Given the description of an element on the screen output the (x, y) to click on. 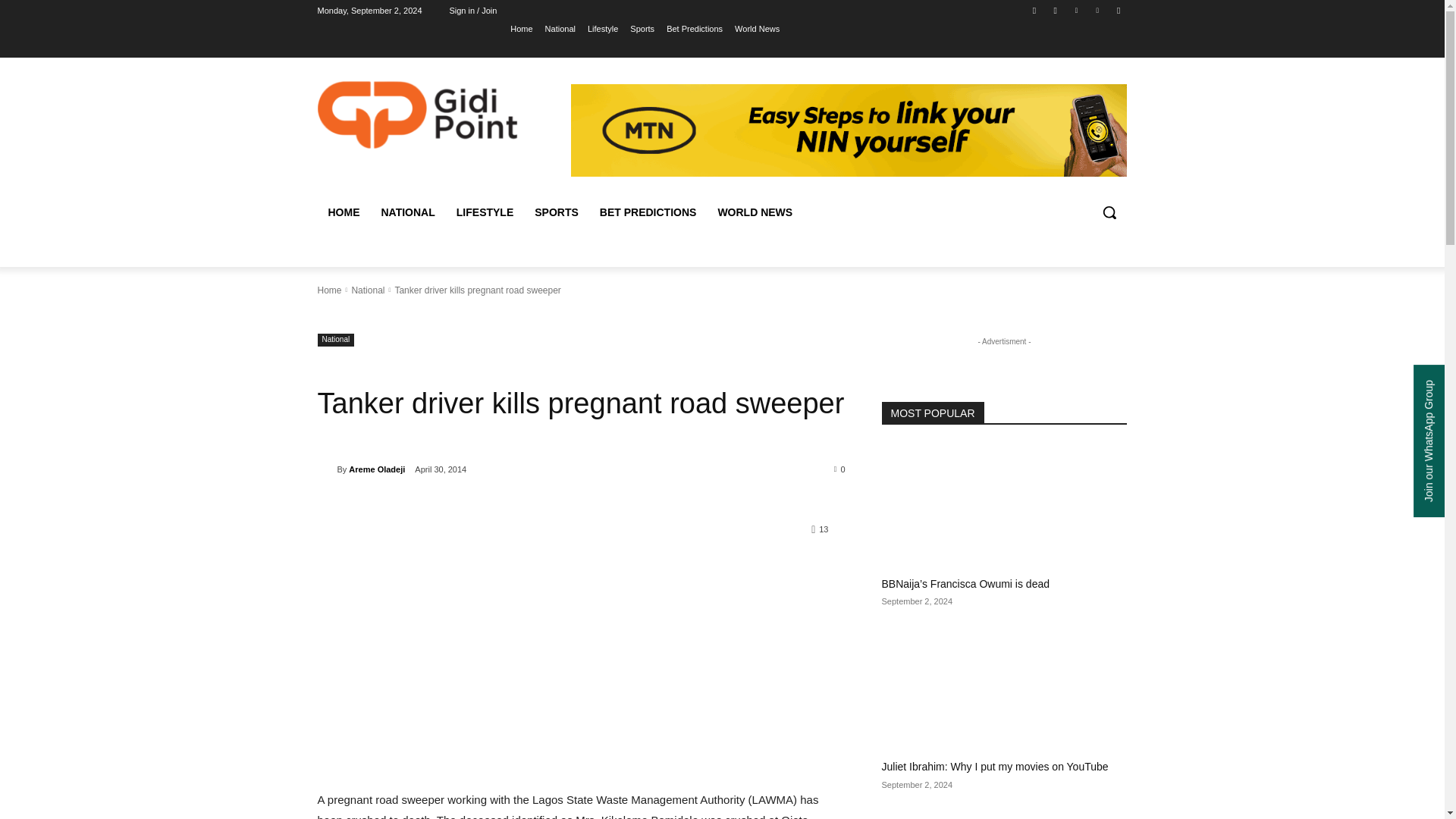
NATIONAL (407, 212)
Sports (641, 28)
Facebook (1034, 9)
Home (521, 28)
National (559, 28)
World News (756, 28)
LIFESTYLE (484, 212)
HOME (343, 212)
SPORTS (556, 212)
Twitter (1075, 9)
